Given the description of an element on the screen output the (x, y) to click on. 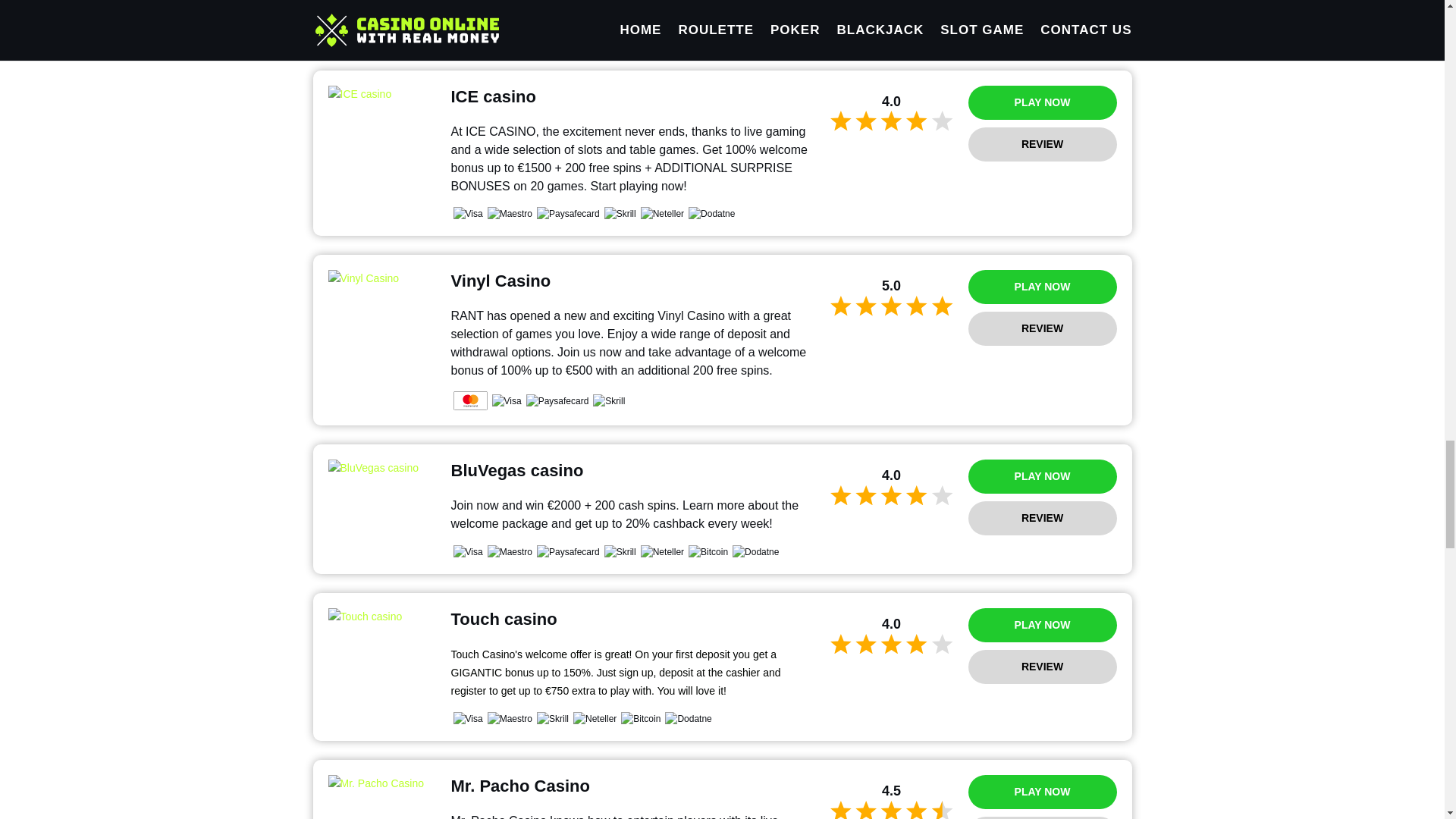
REVIEW (1042, 518)
REVIEW (1042, 144)
REVIEW (1042, 817)
PLAY NOW (1042, 101)
PLAY NOW (1042, 286)
REVIEW (1042, 328)
PLAY NOW (1042, 791)
PLAY NOW (1042, 625)
REVIEW (1042, 666)
PLAY NOW (1042, 476)
